Given the description of an element on the screen output the (x, y) to click on. 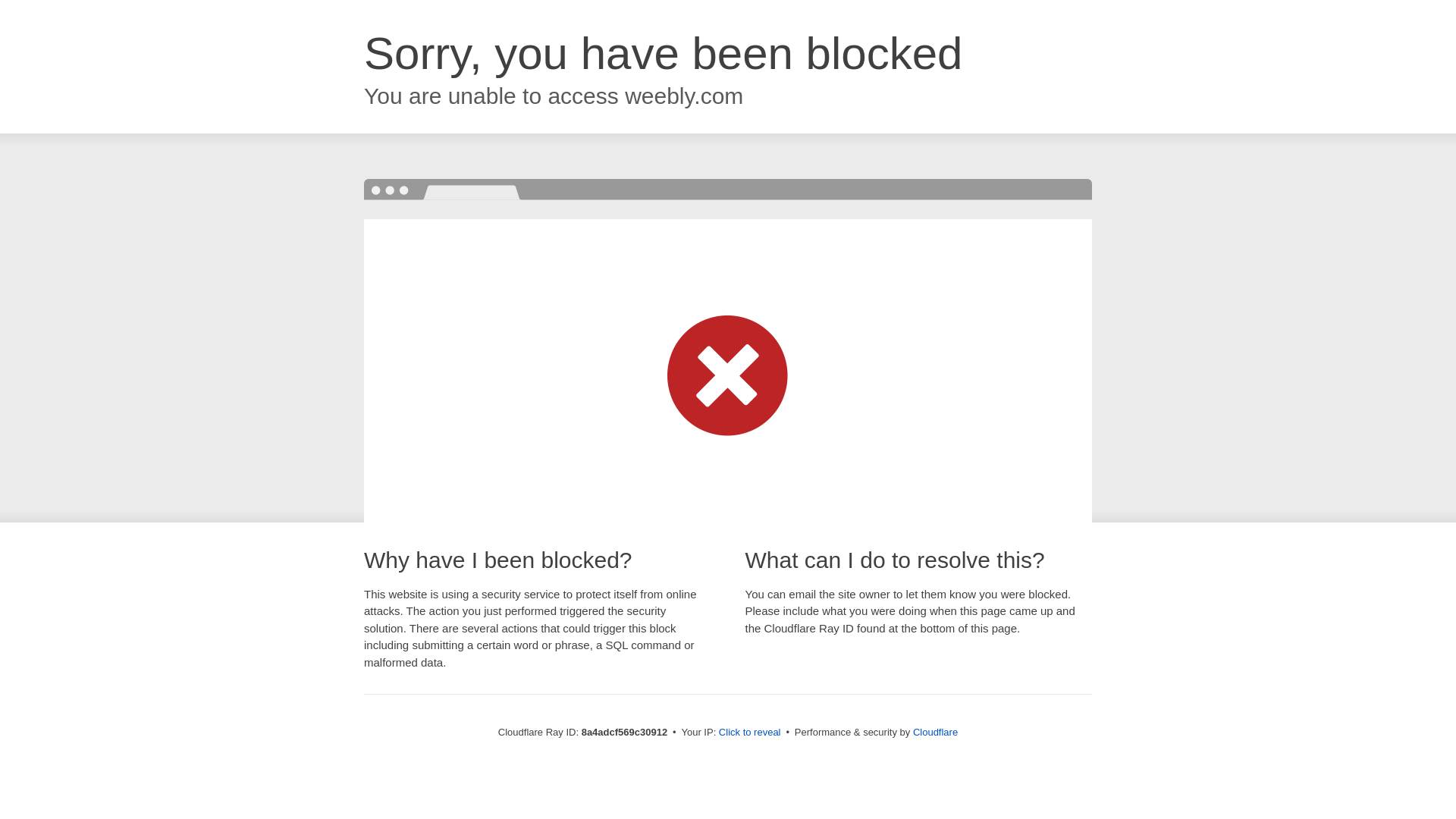
Cloudflare (935, 731)
Click to reveal (749, 732)
